Given the description of an element on the screen output the (x, y) to click on. 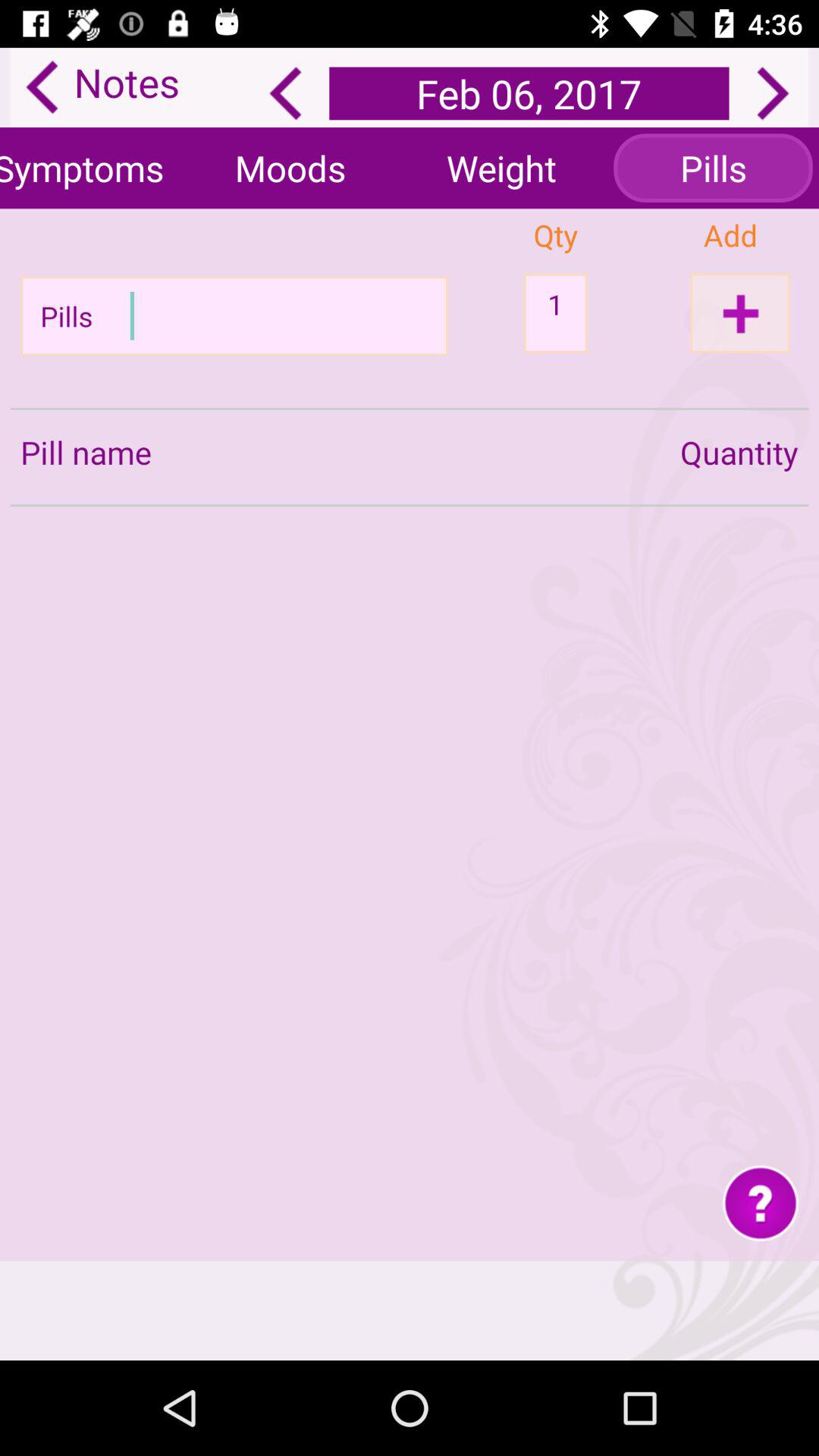
pill name text imput (239, 315)
